Given the description of an element on the screen output the (x, y) to click on. 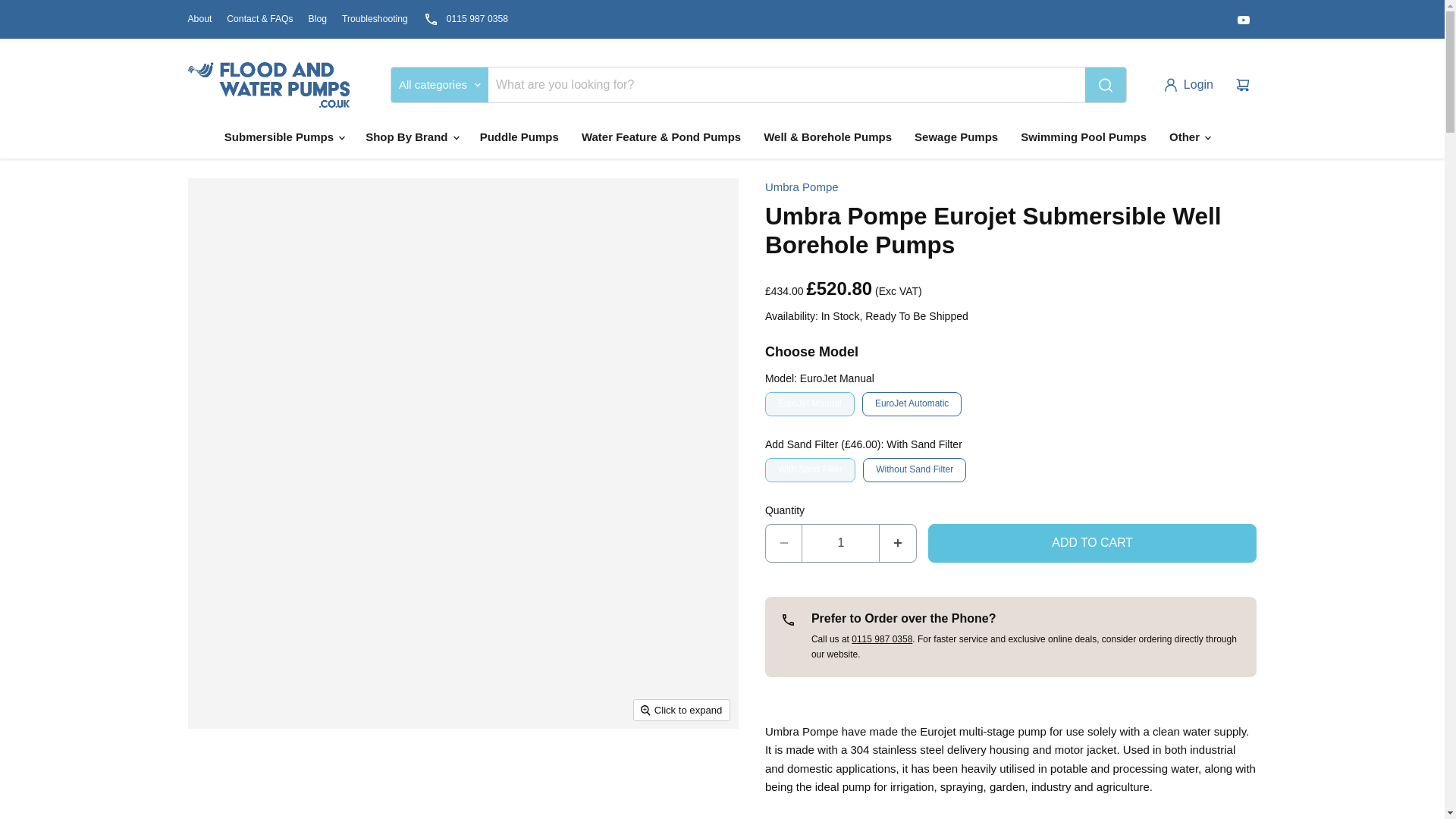
Sewage Pumps (955, 136)
View cart (1242, 84)
Swimming Pool Pumps (1083, 136)
Find us on YouTube (1243, 19)
1 (840, 542)
About (199, 18)
YouTube (1243, 19)
0115 987 0358 (465, 19)
Login (1190, 84)
Umbra Pompe (801, 186)
Troubleshooting (374, 18)
Puddle Pumps (519, 136)
Blog (317, 18)
